Given the description of an element on the screen output the (x, y) to click on. 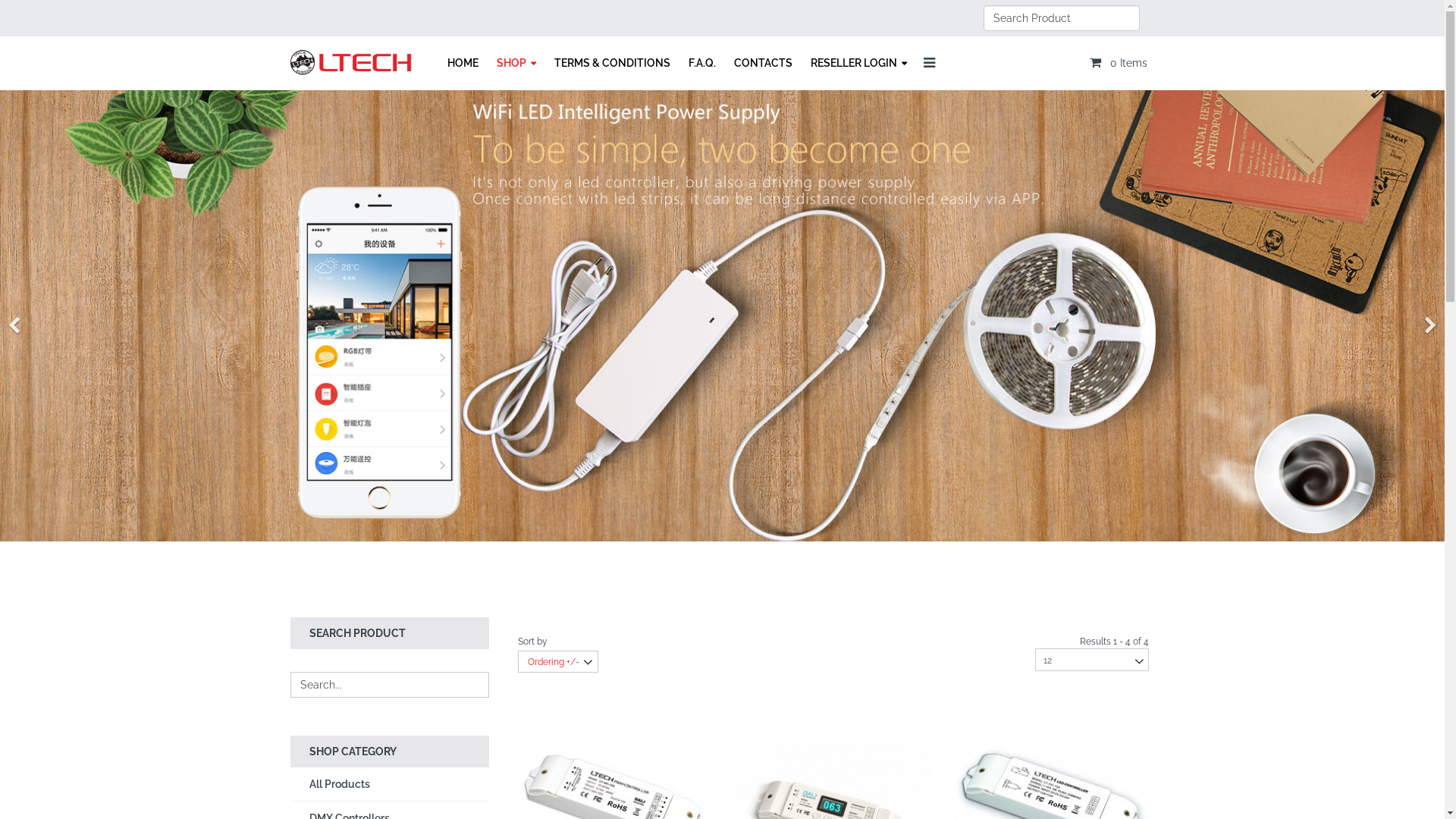
RESELLER LOGIN Element type: text (857, 63)
TERMS & CONDITIONS Element type: text (611, 62)
All Products Element type: text (389, 784)
SHOP Element type: text (515, 63)
Add to Cart Element type: text (1029, 760)
HOME Element type: text (462, 62)
CONTACTS Element type: text (762, 62)
Ordering +/- Element type: text (553, 661)
F.A.Q. Element type: text (701, 62)
